Given the description of an element on the screen output the (x, y) to click on. 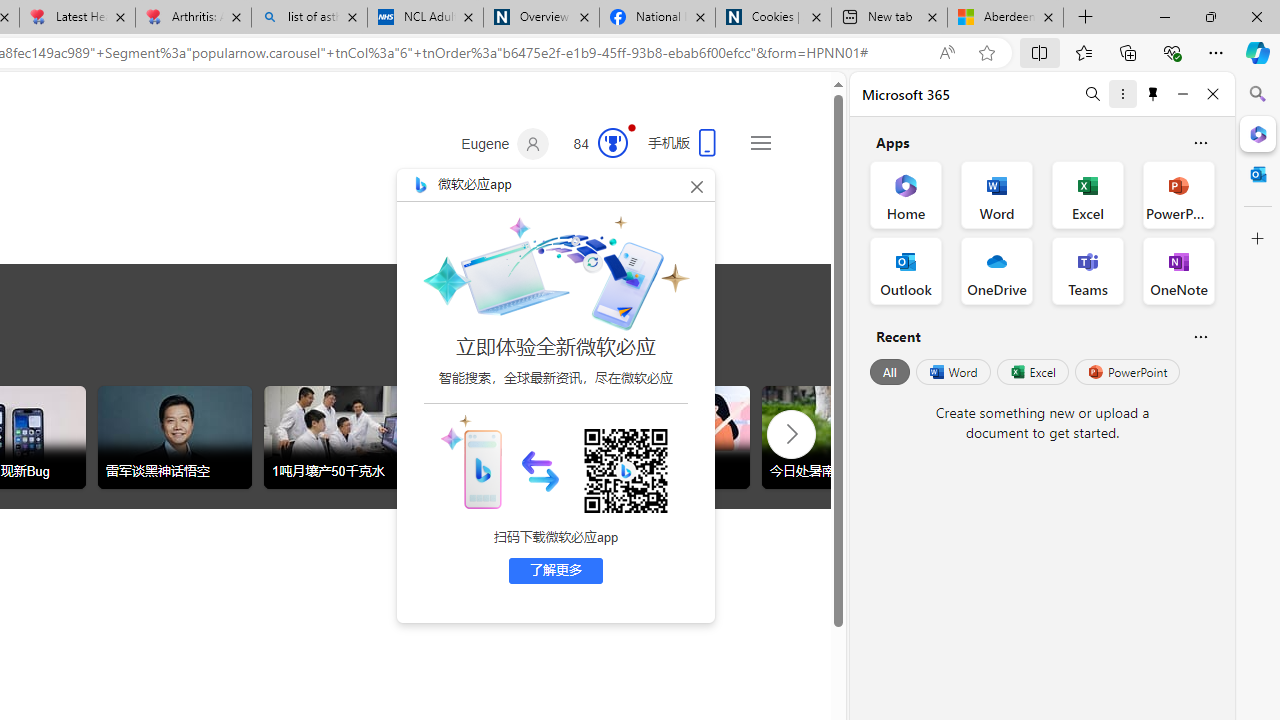
Home Office App (906, 194)
AutomationID: fly_arrimg (539, 470)
PowerPoint (1127, 372)
Animation (632, 127)
PowerPoint Office App (1178, 194)
AutomationID: serp_medal_svg (612, 142)
Word (952, 372)
